Given the description of an element on the screen output the (x, y) to click on. 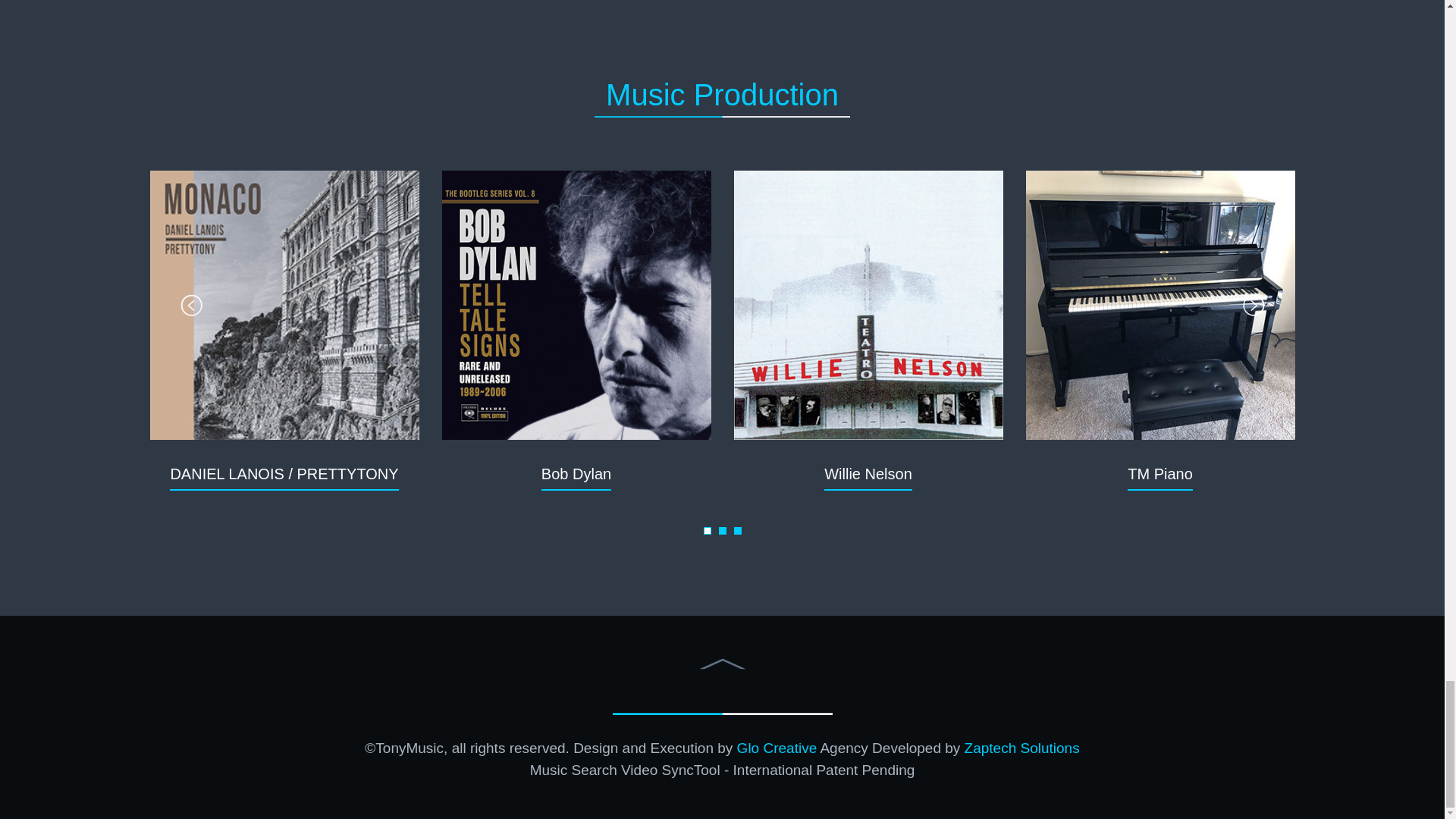
Music Production (721, 93)
